Given the description of an element on the screen output the (x, y) to click on. 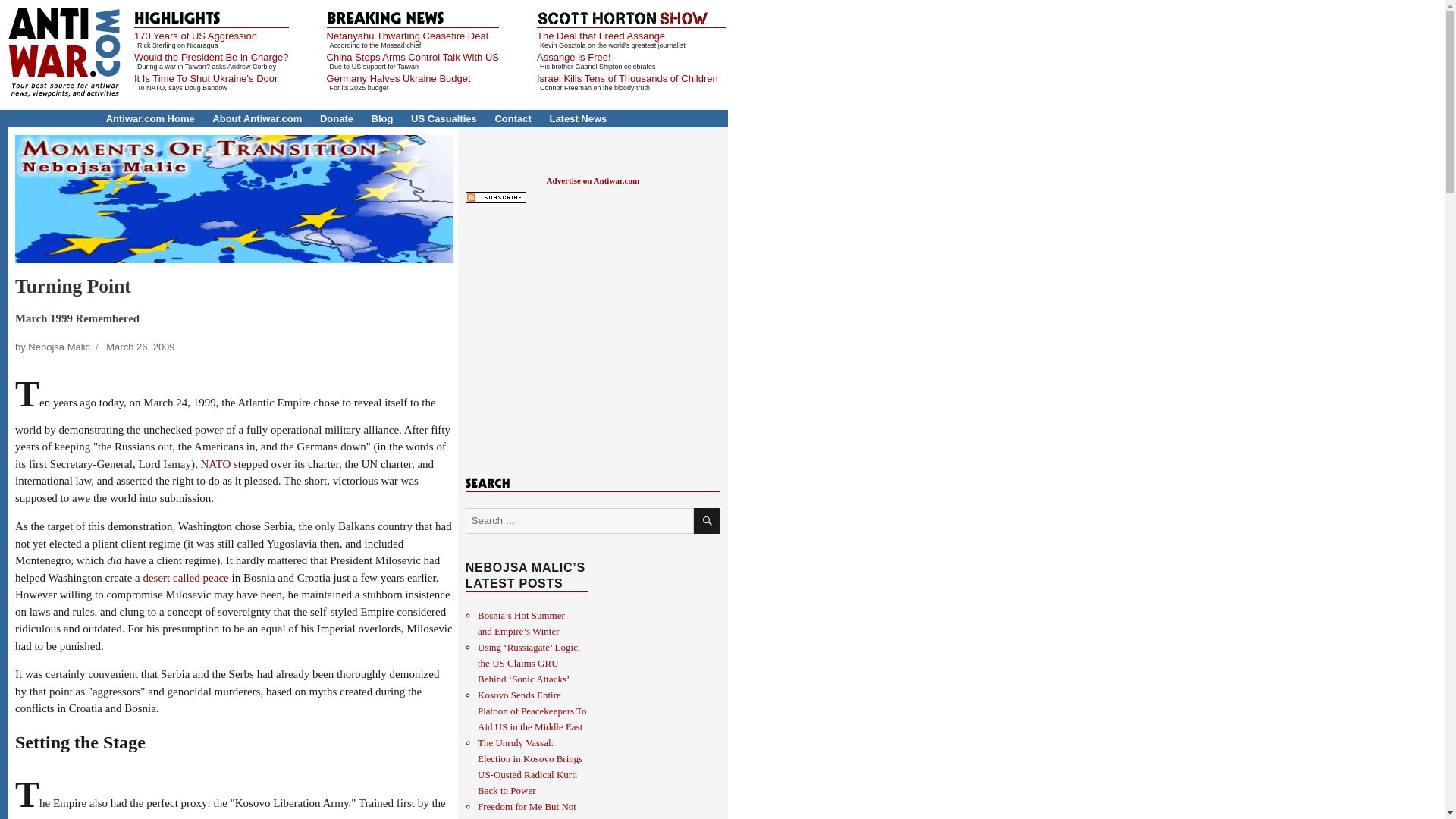
170 Years of US Aggression (195, 35)
Blog (382, 118)
Antiwar.com Home (150, 118)
Netanyahu Thwarting Ceasefire Deal (406, 35)
3rd party ad content (592, 337)
March 26, 2009 (140, 346)
Contact (513, 118)
Assange is Free! (574, 57)
Posts by Nebojsa Malic (58, 346)
US Casualties (443, 118)
Donate (336, 118)
Israel Kills Tens of Thousands of Children (627, 78)
NATO (215, 463)
Moments of Transition (233, 198)
Would the President Be in Charge? (210, 57)
